Given the description of an element on the screen output the (x, y) to click on. 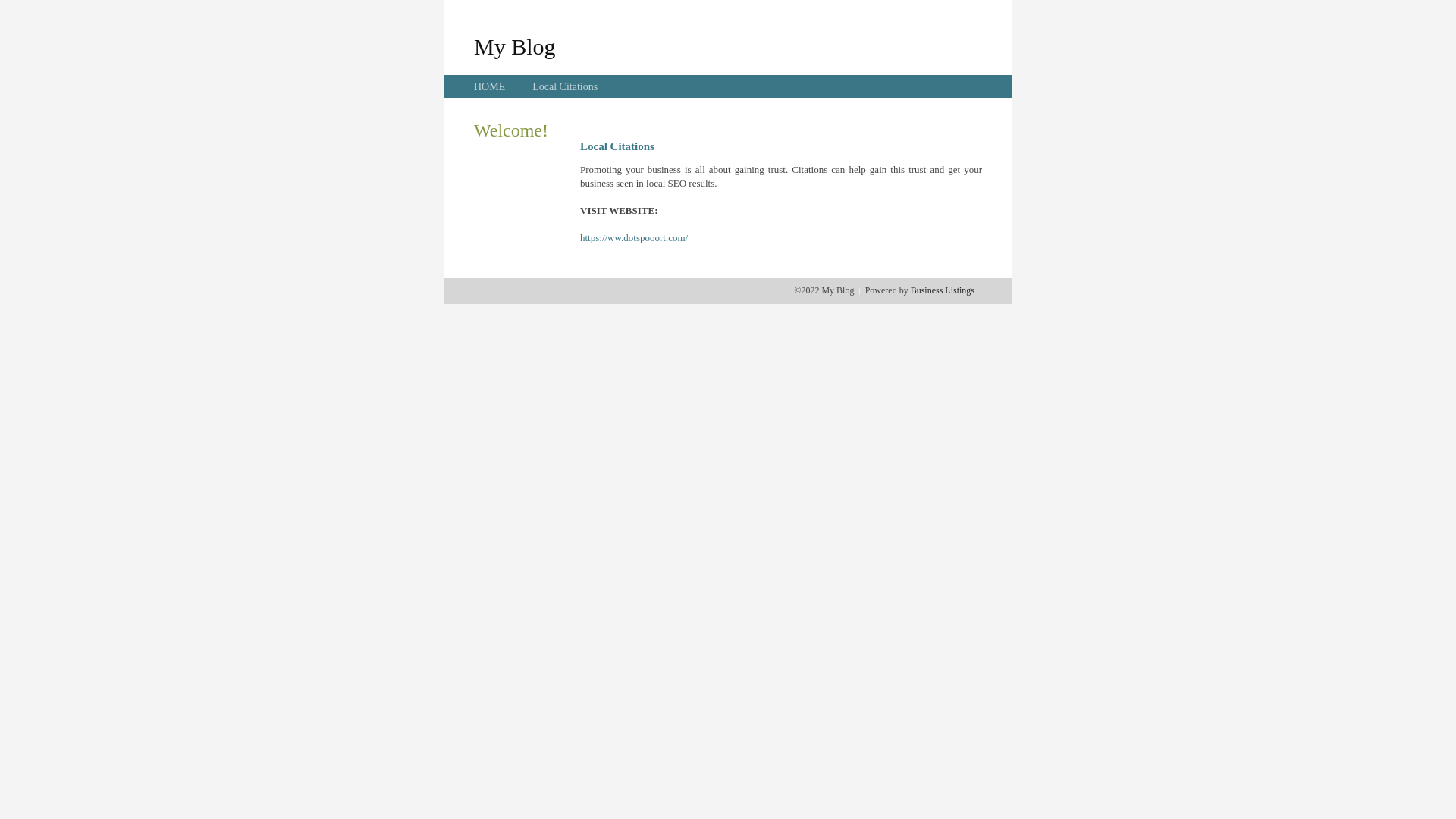
HOME Element type: text (489, 86)
https://ww.dotspooort.com/ Element type: text (633, 237)
Business Listings Element type: text (942, 290)
My Blog Element type: text (514, 46)
Local Citations Element type: text (564, 86)
